Given the description of an element on the screen output the (x, y) to click on. 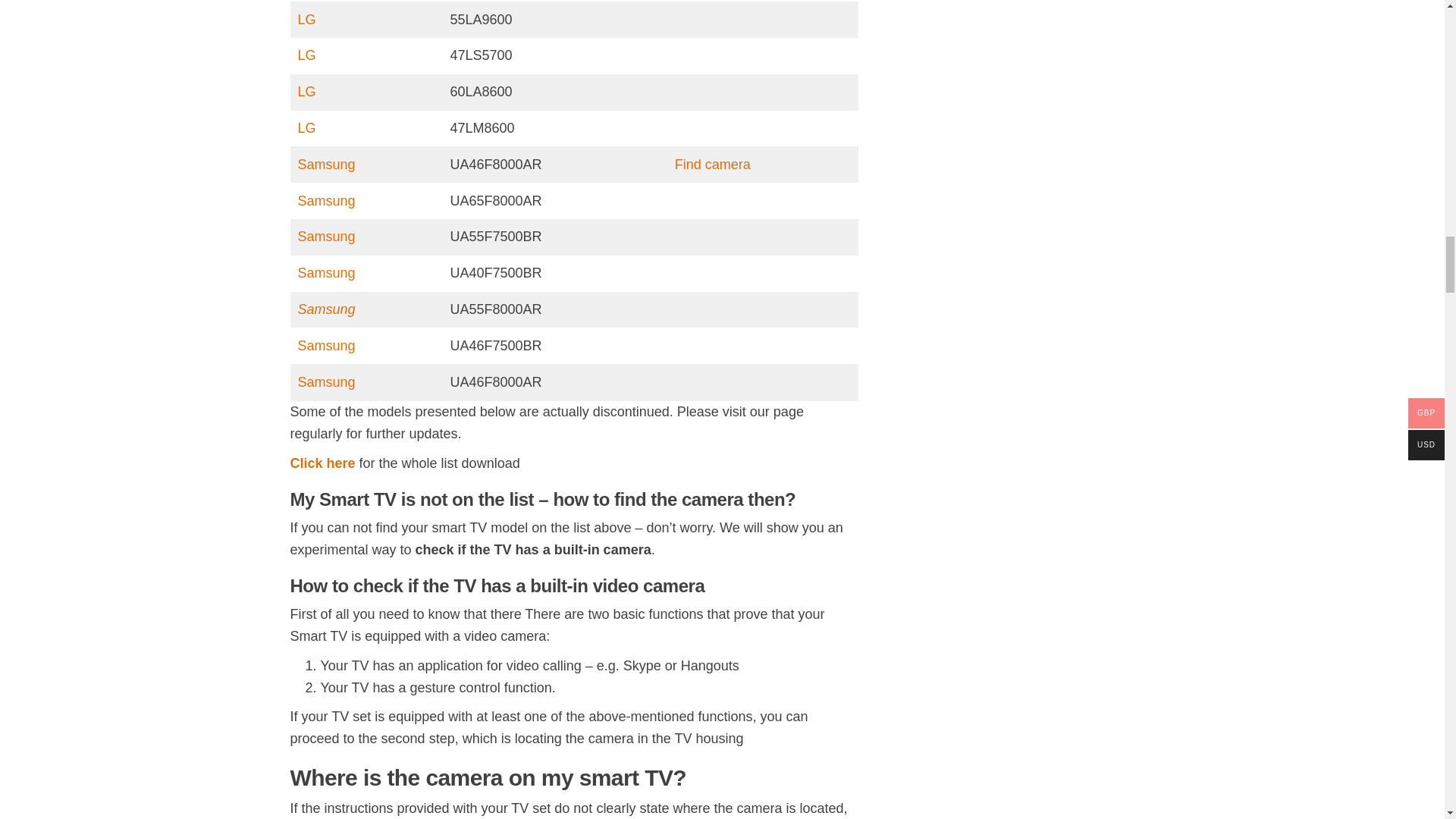
LG (306, 55)
Samsung (326, 200)
LG (306, 127)
LG (306, 19)
Samsung (326, 164)
Click here (322, 462)
LG (306, 91)
Samsung (326, 272)
Samsung (326, 309)
Find camera (713, 164)
Samsung (326, 381)
Samsung (326, 236)
Samsung (326, 345)
